Given the description of an element on the screen output the (x, y) to click on. 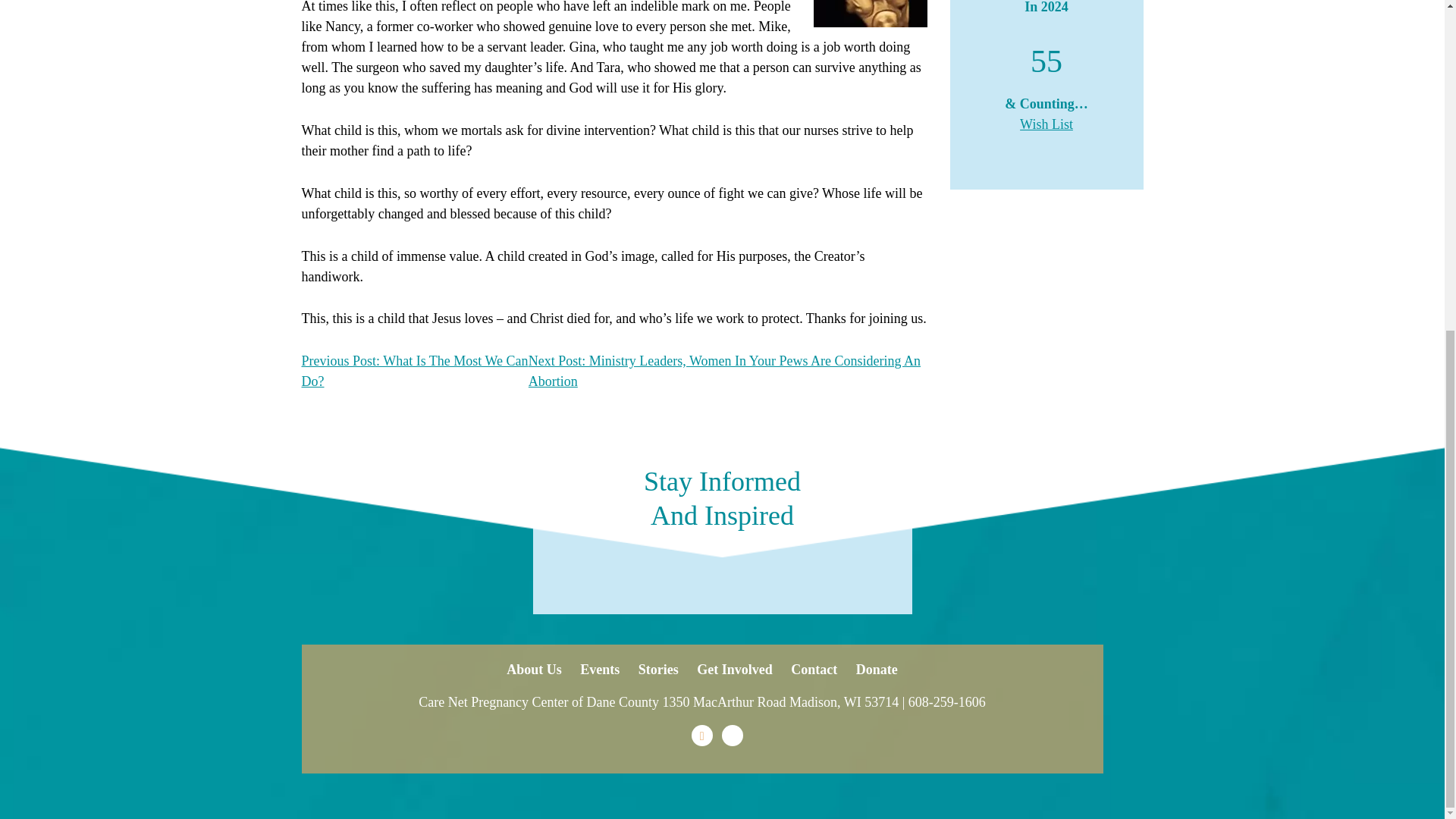
Events (599, 669)
Wish List (1046, 124)
Stories (658, 669)
608-259-1606 (946, 702)
About Us (534, 669)
Get Involved (735, 669)
Contact (813, 669)
Previous Post: What Is The Most We Can Do? (414, 370)
Donate (877, 669)
